Given the description of an element on the screen output the (x, y) to click on. 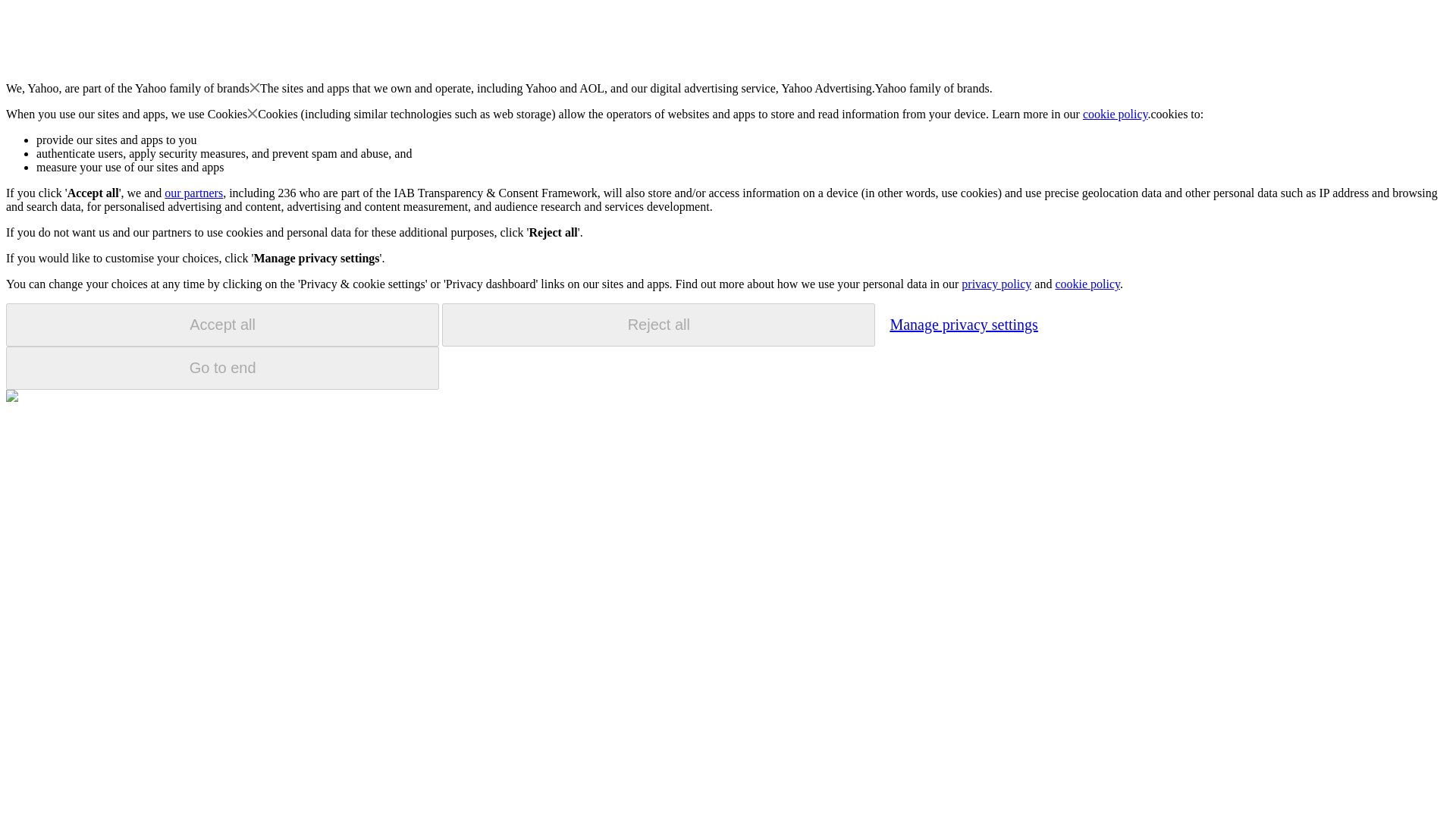
Manage privacy settings (963, 323)
our partners (193, 192)
cookie policy (1115, 113)
privacy policy (995, 283)
cookie policy (1086, 283)
Accept all (222, 324)
Go to end (222, 367)
Reject all (658, 324)
